Given the description of an element on the screen output the (x, y) to click on. 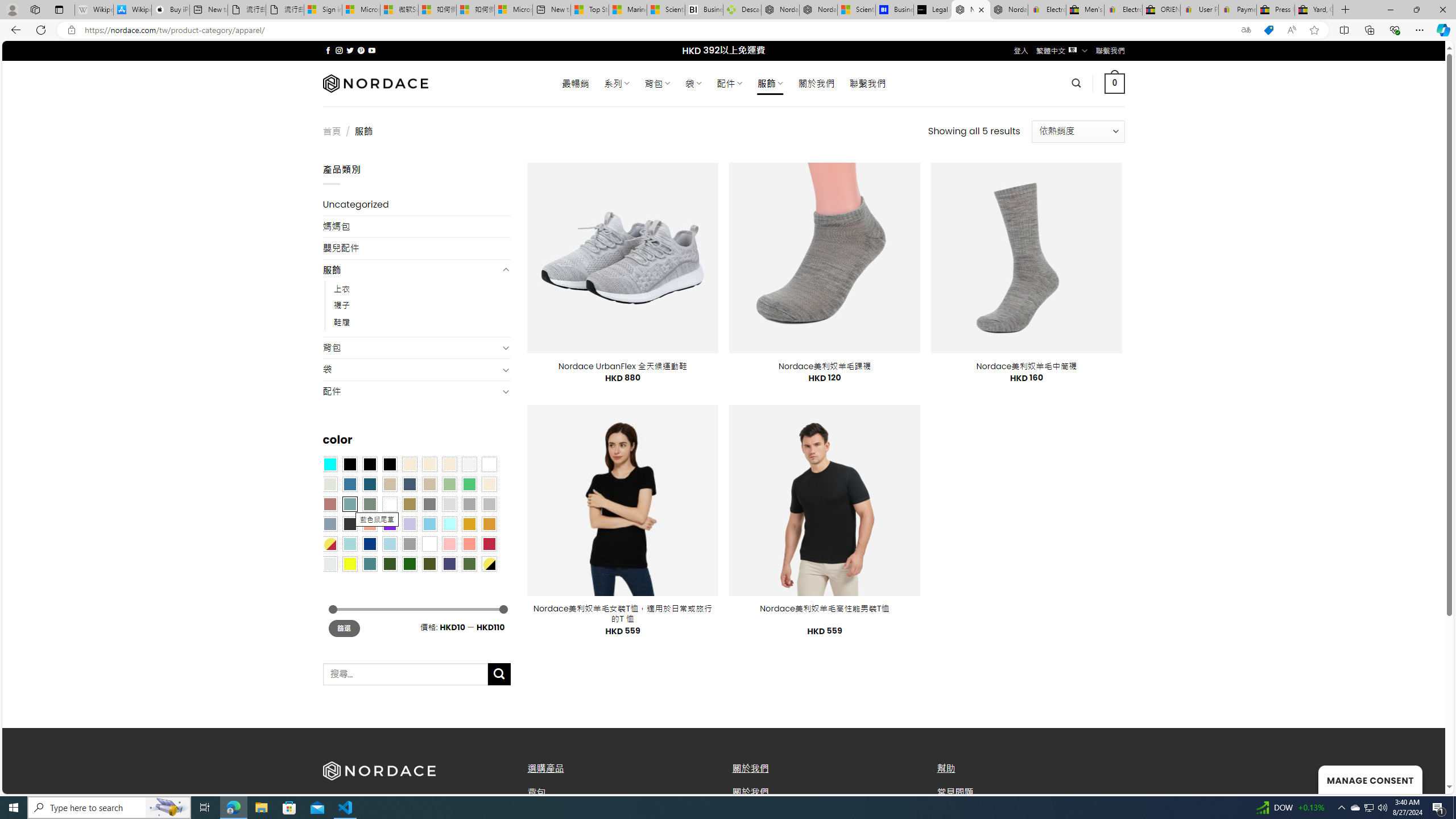
Nordace (374, 83)
Press Room - eBay Inc. (1276, 9)
User Privacy Notice | eBay (1198, 9)
Descarga Driver Updater (741, 9)
Marine life - MSN (628, 9)
Nordace (374, 83)
